Given the description of an element on the screen output the (x, y) to click on. 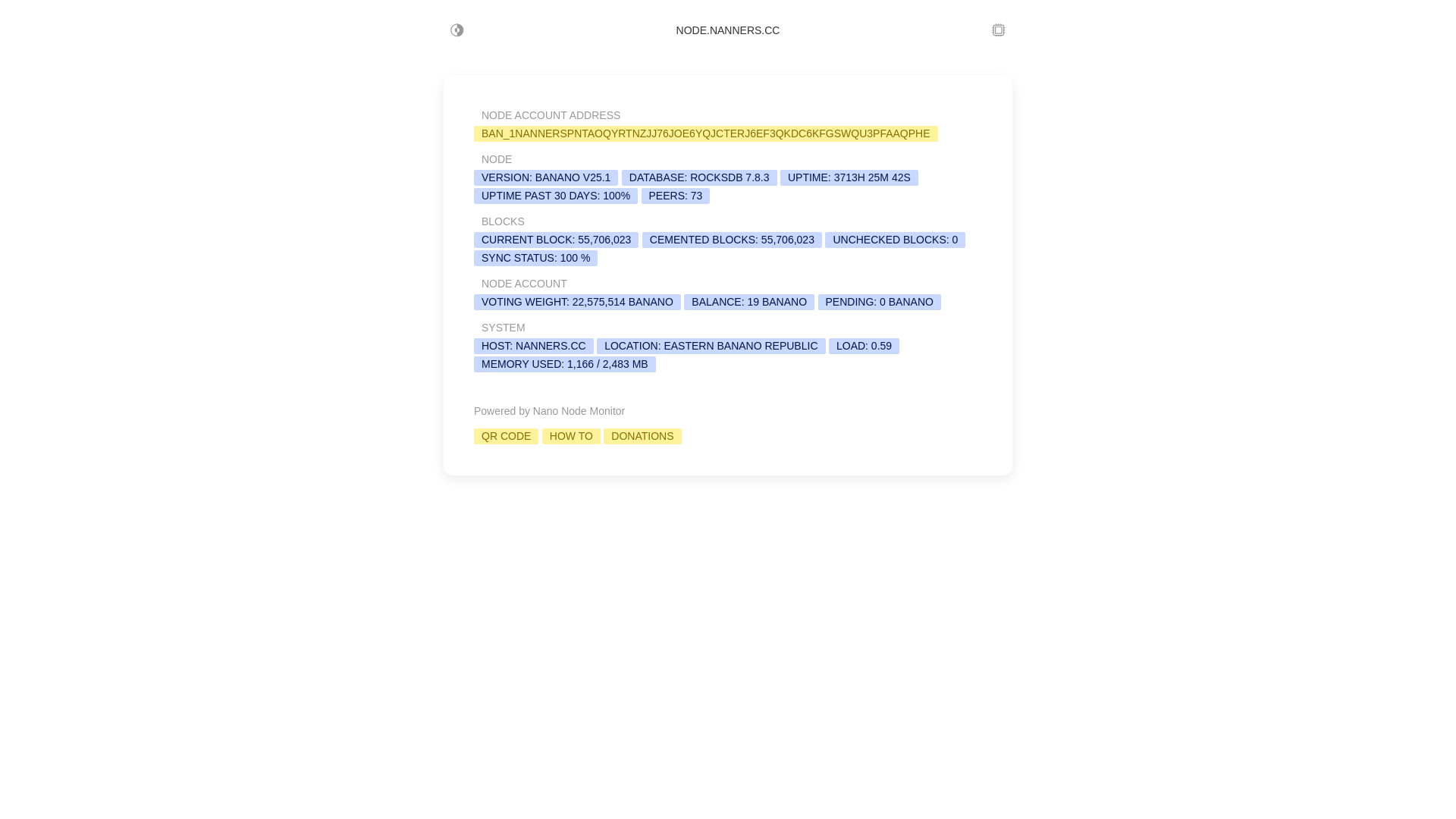
Nano Node Monitor Element type: text (578, 410)
DONATIONS Element type: text (642, 435)
HOW TO Element type: text (571, 435)
QR CODE Element type: text (505, 435)
NODE.NANNERS.CC Element type: text (728, 30)
